Given the description of an element on the screen output the (x, y) to click on. 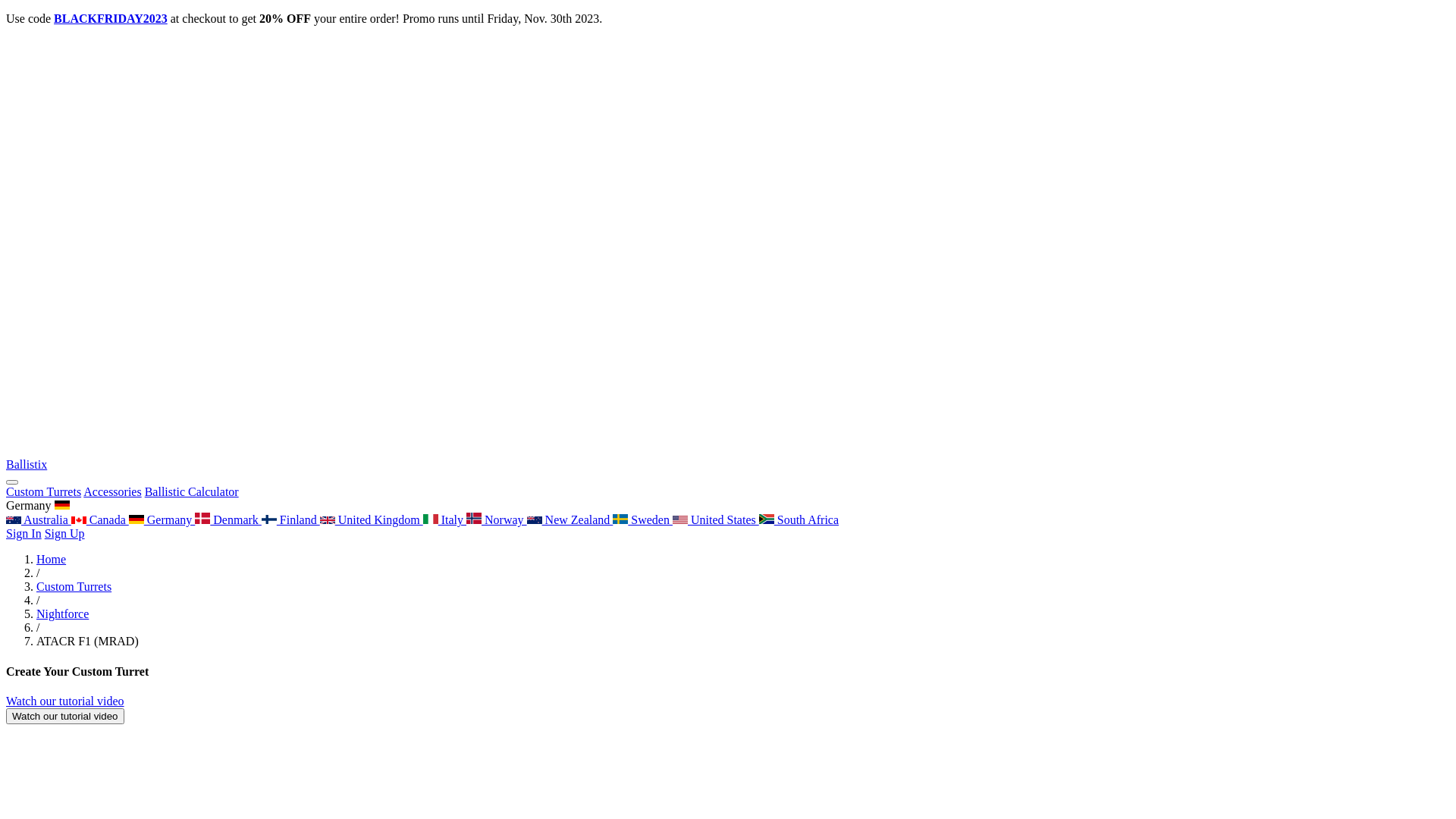
Home Element type: text (50, 558)
BLACKFRIDAY2023 Element type: text (110, 18)
United States Element type: text (715, 519)
Australia Element type: text (38, 519)
New Zealand Element type: text (570, 519)
Nightforce Element type: text (62, 613)
Finland Element type: text (290, 519)
Sweden Element type: text (642, 519)
Denmark Element type: text (227, 519)
Canada Element type: text (99, 519)
Italy Element type: text (444, 519)
Ballistic Calculator Element type: text (191, 491)
United Kingdom Element type: text (371, 519)
Watch our tutorial video Element type: text (65, 700)
Watch our tutorial video Element type: text (65, 716)
Custom Turrets Element type: text (43, 491)
Accessories Element type: text (112, 491)
Sign Up Element type: text (64, 533)
Sign In Element type: text (23, 533)
Ballistix Element type: text (727, 457)
Germany Element type: text (161, 519)
Custom Turrets Element type: text (73, 586)
South Africa Element type: text (798, 519)
Norway Element type: text (496, 519)
